Given the description of an element on the screen output the (x, y) to click on. 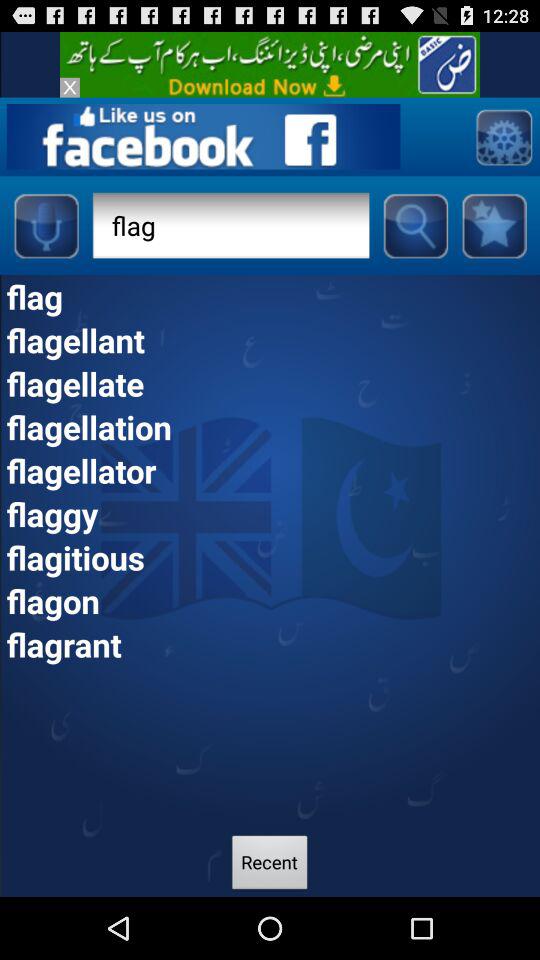
speech button (45, 225)
